Given the description of an element on the screen output the (x, y) to click on. 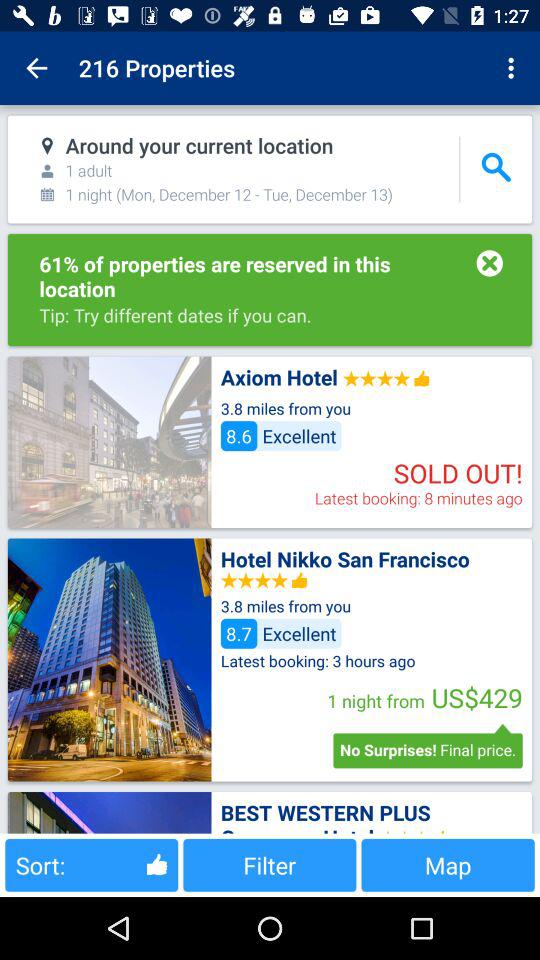
choose button next to map (269, 864)
